Given the description of an element on the screen output the (x, y) to click on. 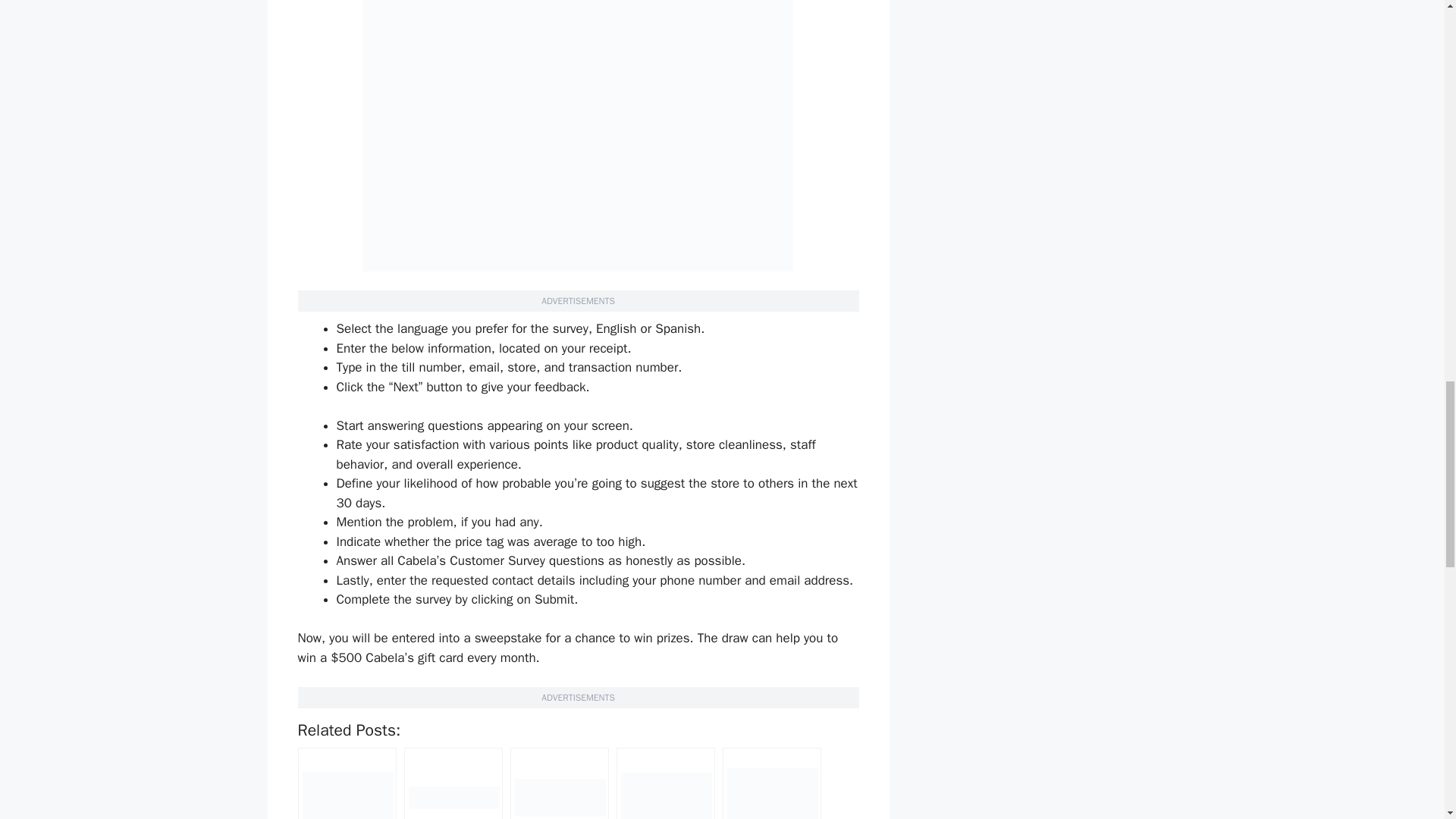
ADVERTISEMENTS (577, 697)
Take OfficeMax Survey At www.officemaxfeedback.com (453, 783)
Take OfficeMax Survey At www.officemaxfeedback.com (453, 783)
ADVERTISEMENTS (577, 300)
